Given the description of an element on the screen output the (x, y) to click on. 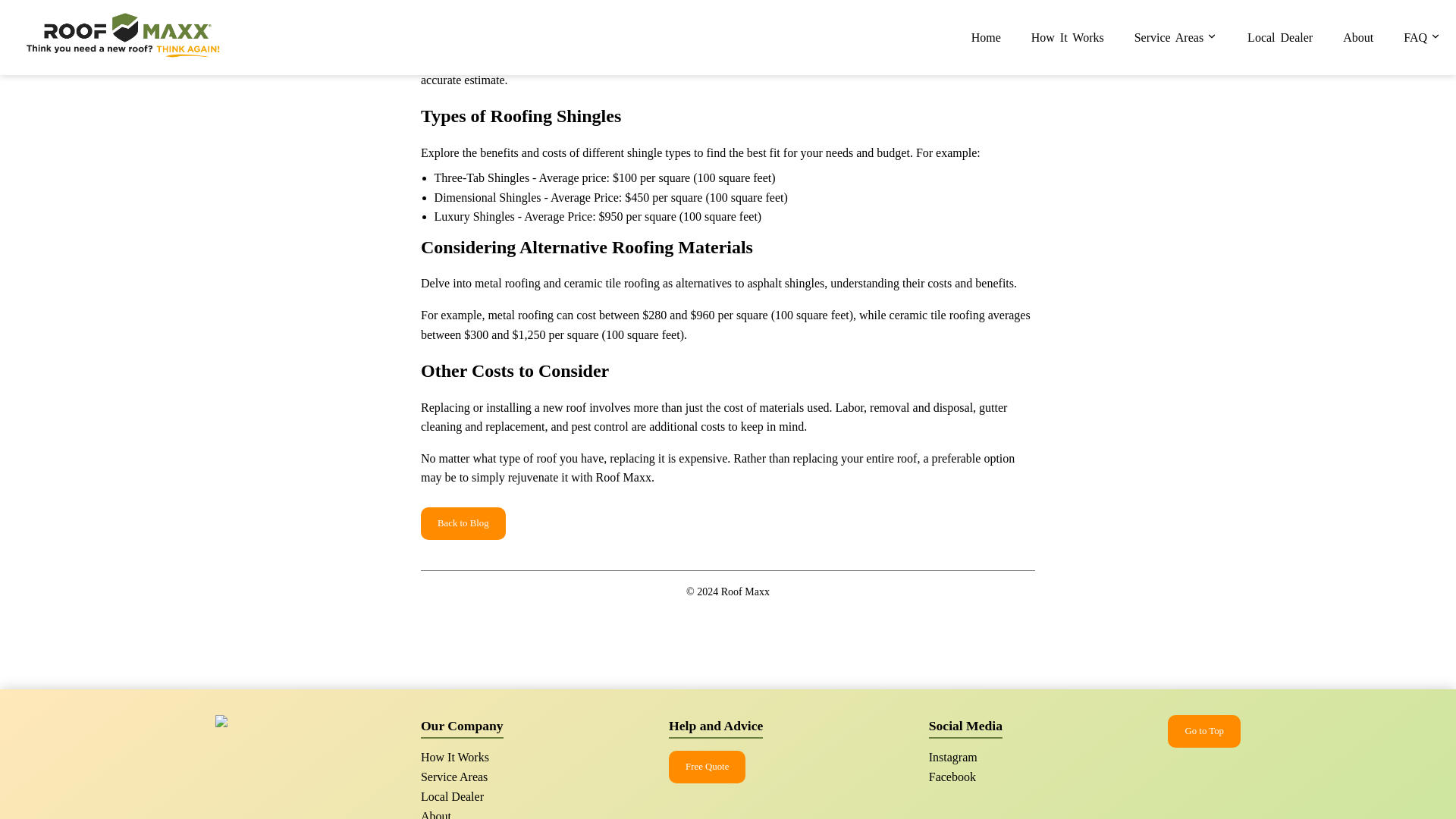
How It Works (454, 757)
Free Quote (706, 766)
Local Dealer (451, 796)
Go to Top (1203, 730)
Service Areas (453, 776)
Back to Blog (462, 521)
Instagram (952, 757)
Facebook (951, 776)
Back to Blog (462, 522)
